Given the description of an element on the screen output the (x, y) to click on. 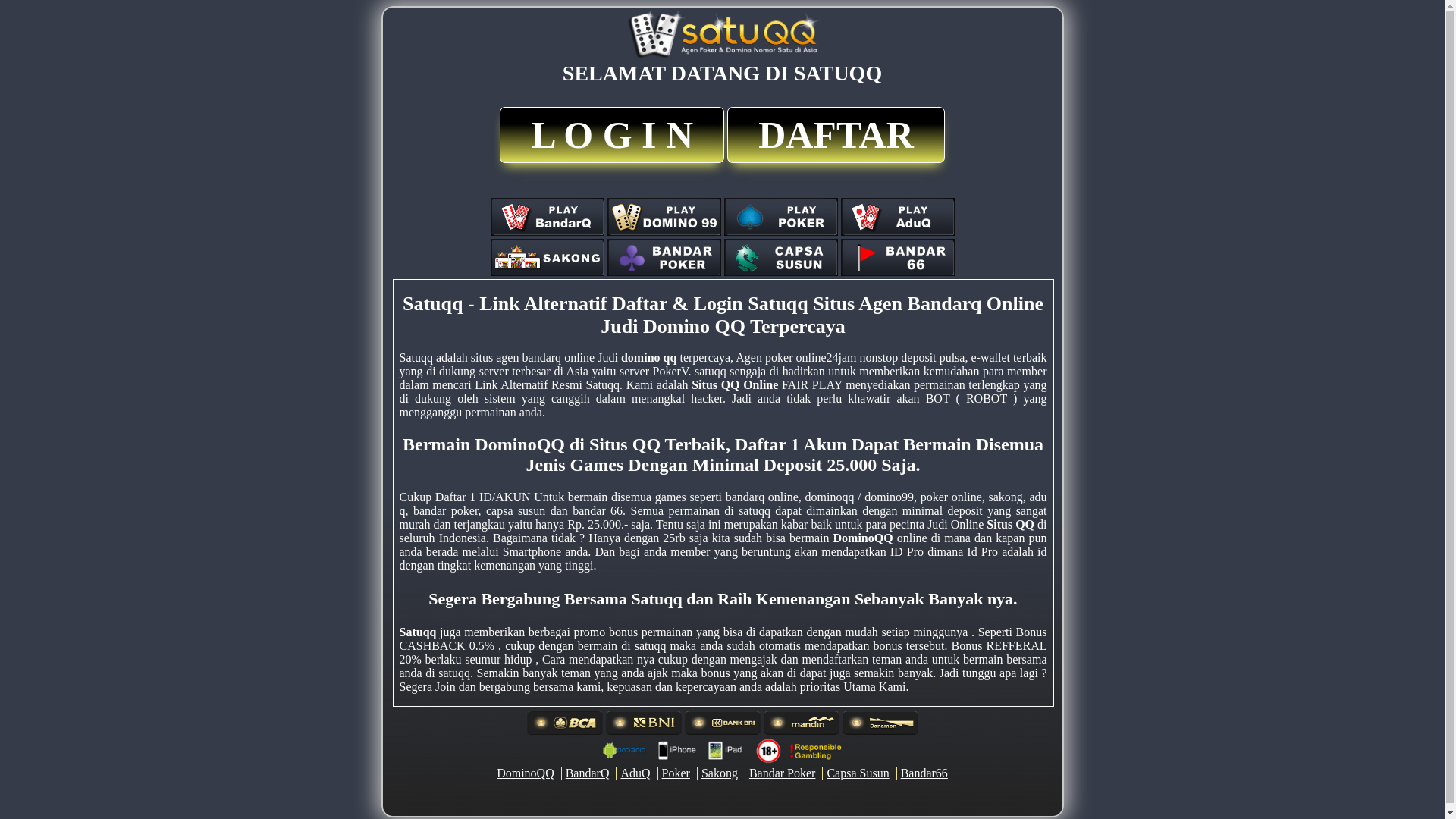
DominoQQ Element type: text (525, 772)
mandiri Element type: hover (800, 722)
poker Element type: hover (780, 216)
danamon Element type: hover (879, 722)
Capsa Susun Element type: text (857, 772)
AduQ Element type: text (634, 772)
DominoQQ Element type: text (863, 537)
bca Element type: hover (564, 722)
domino qq Element type: text (648, 357)
bandarq Element type: hover (546, 216)
dominoqq Element type: hover (663, 216)
bandarpoker Element type: hover (663, 257)
Bandar66 Element type: text (923, 772)
capsa Element type: hover (780, 257)
Situs QQ Element type: text (1010, 523)
sakong Element type: hover (546, 257)
DAFTAR Element type: text (835, 134)
Situs QQ Online Element type: text (734, 384)
Sakong Element type: text (719, 772)
Poker Element type: text (676, 772)
bri Element type: hover (721, 722)
balak66 Element type: hover (896, 257)
BandarQ Element type: text (587, 772)
aduq Element type: hover (896, 216)
Satuqq Element type: text (417, 631)
responsible Element type: hover (721, 750)
satuqq Element type: hover (721, 34)
bni Element type: hover (642, 722)
Bandar Poker Element type: text (782, 772)
L O G I N Element type: text (611, 134)
